Given the description of an element on the screen output the (x, y) to click on. 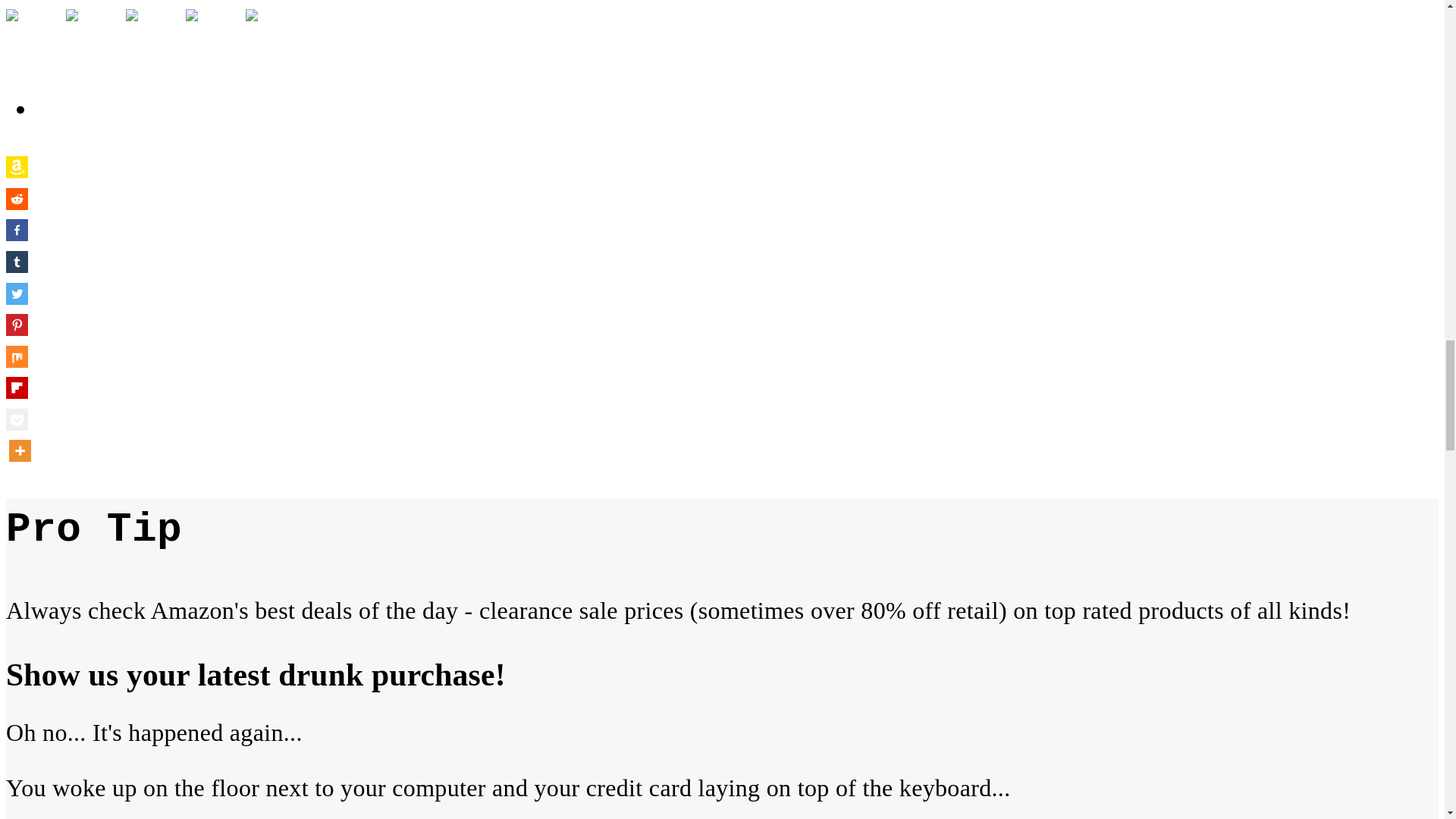
Blog about it! (270, 33)
Tweet! (90, 33)
Submit! (149, 33)
Share! (30, 33)
Pin it! (210, 33)
